Given the description of an element on the screen output the (x, y) to click on. 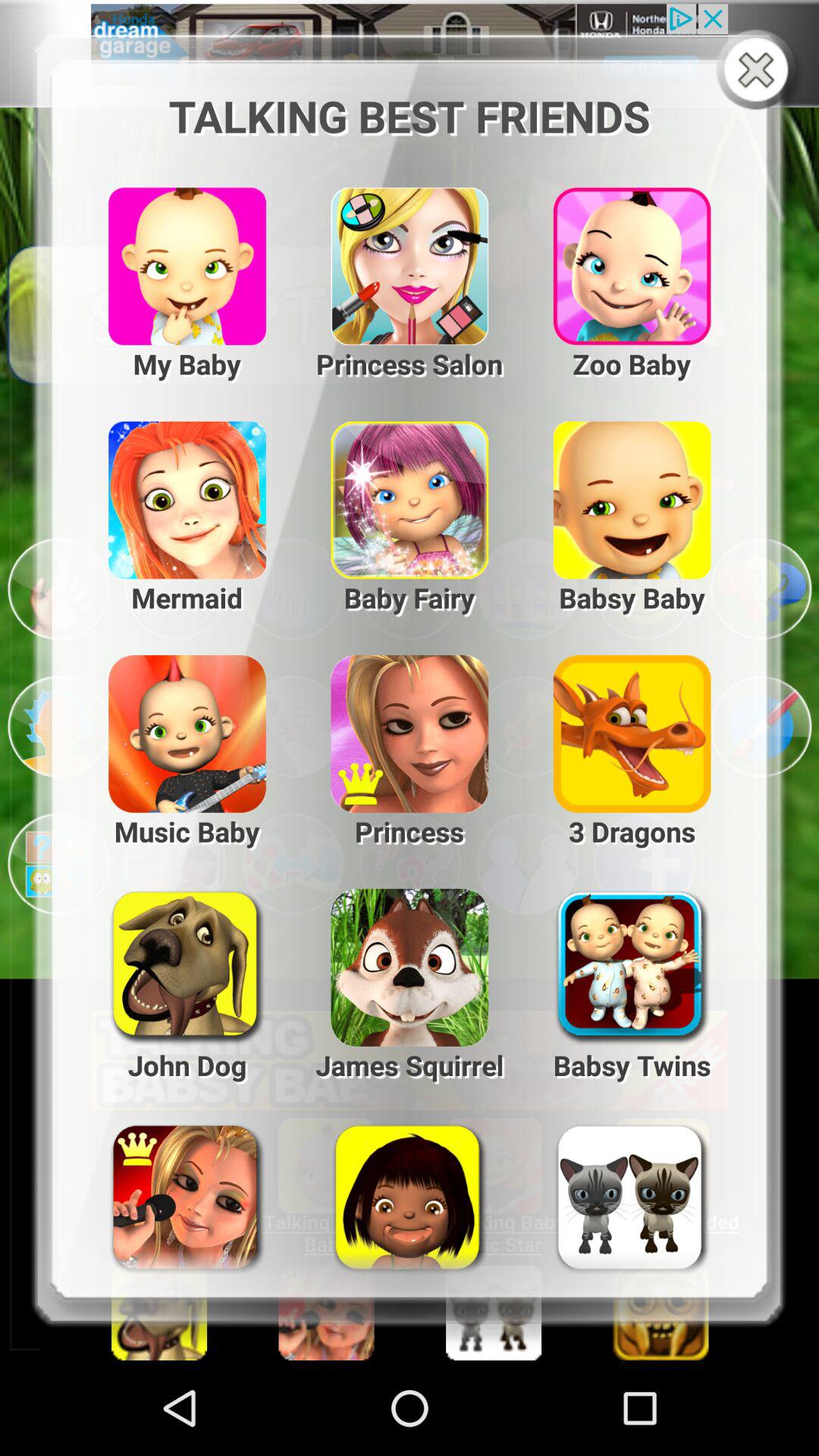
close this page (759, 71)
